Given the description of an element on the screen output the (x, y) to click on. 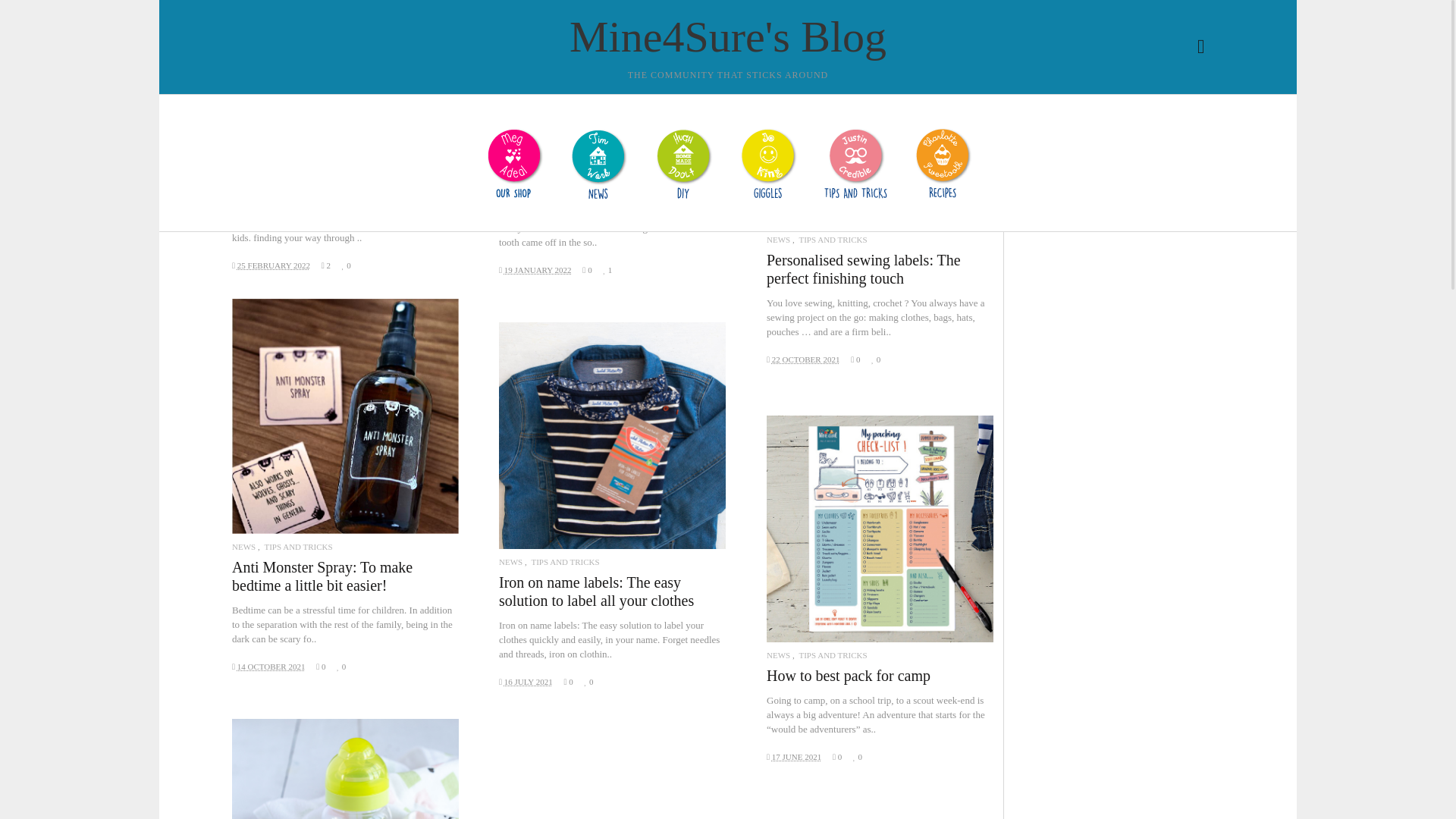
Babies and children clothes size guide (344, 66)
